Given the description of an element on the screen output the (x, y) to click on. 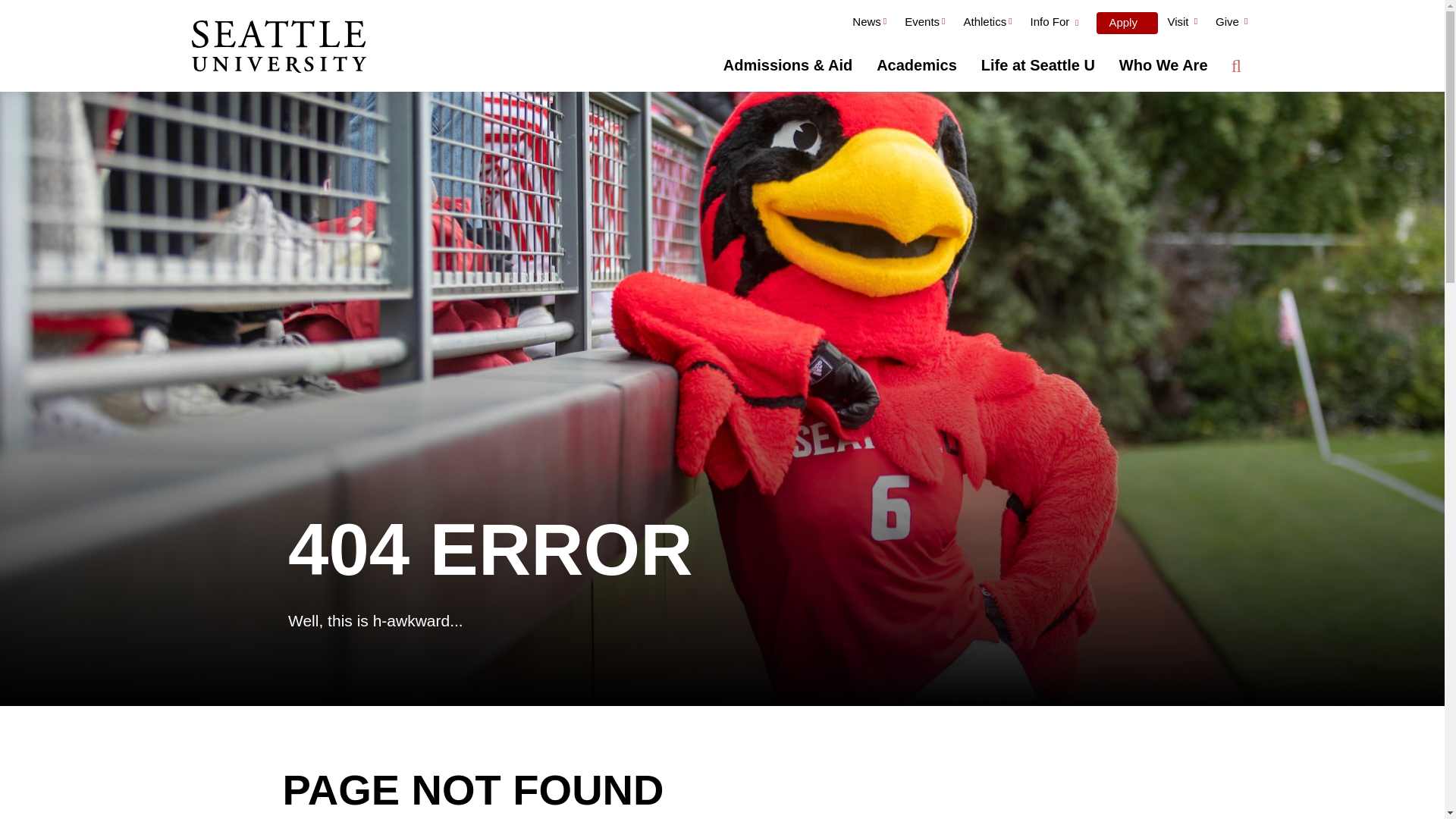
Visit (1182, 23)
Events (924, 23)
Click to visit the home page (277, 47)
Life at Seattle U (1037, 65)
News (869, 23)
Academics (916, 65)
Give (1231, 23)
Apply (1126, 23)
Athletics (986, 23)
